Given the description of an element on the screen output the (x, y) to click on. 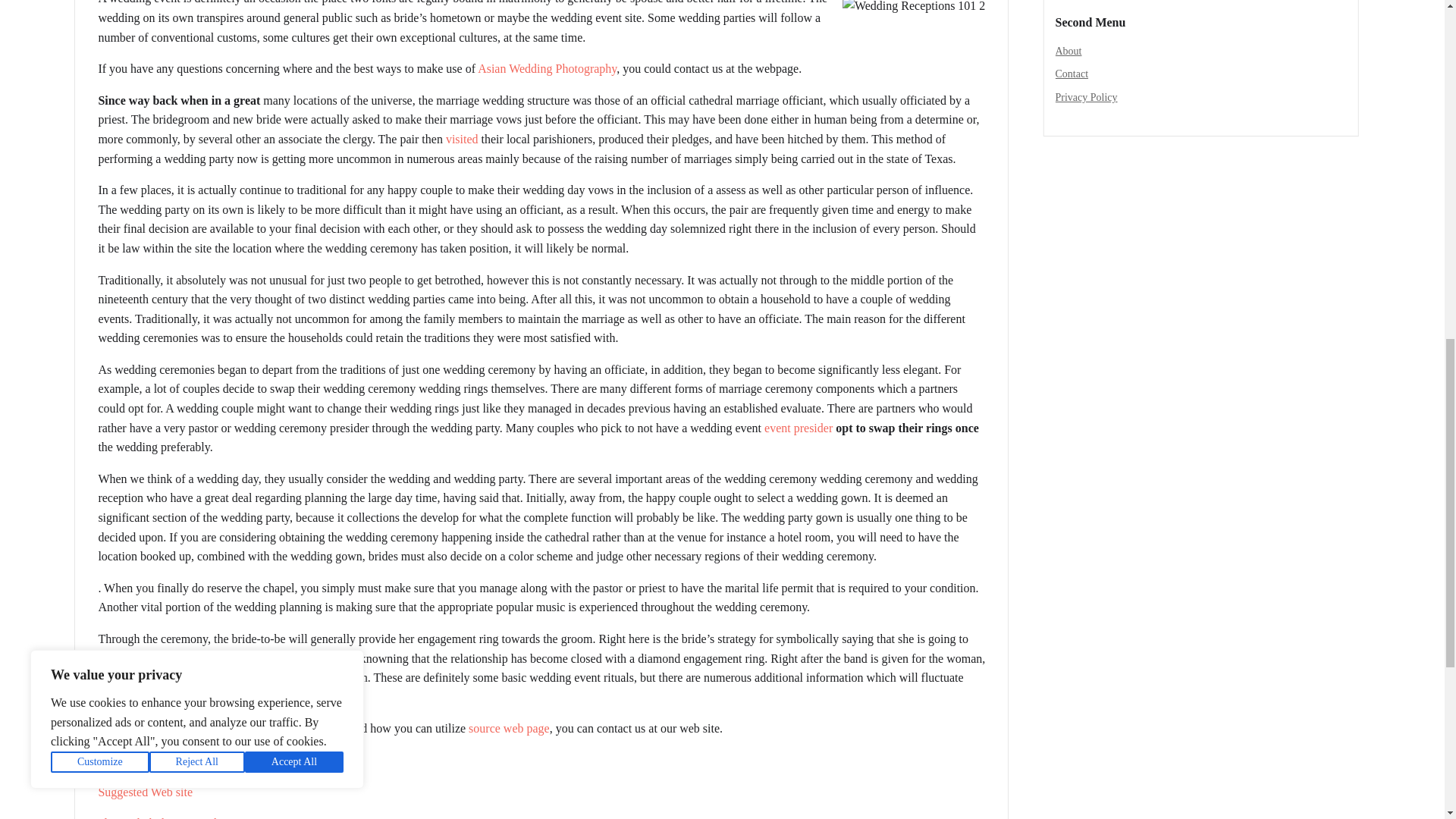
source web page (509, 727)
event presider (798, 427)
visited (462, 138)
Asian Wedding Photography (546, 68)
please click the next website (166, 817)
Suggested Web site (144, 791)
